Given the description of an element on the screen output the (x, y) to click on. 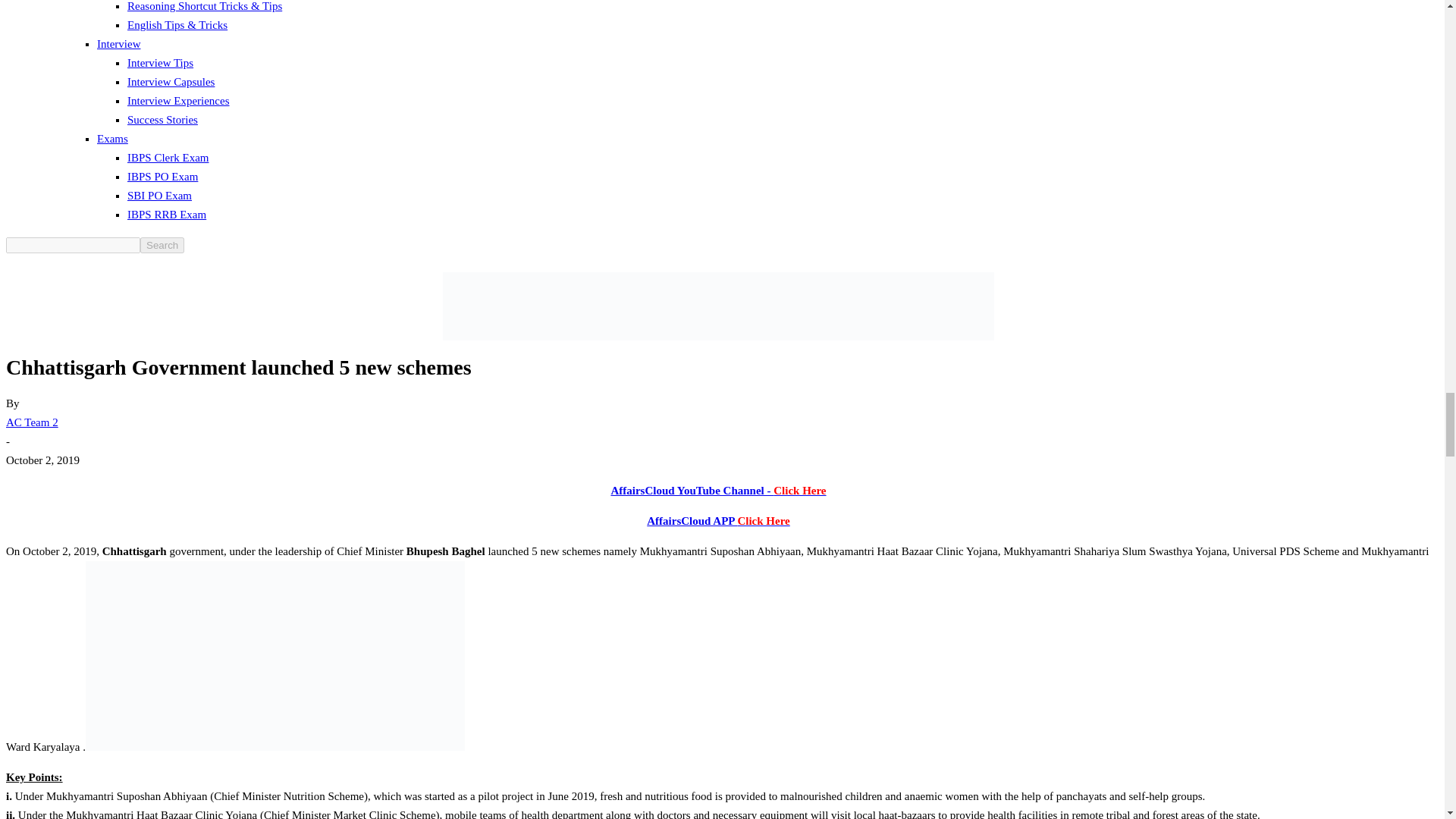
Search (161, 245)
